Given the description of an element on the screen output the (x, y) to click on. 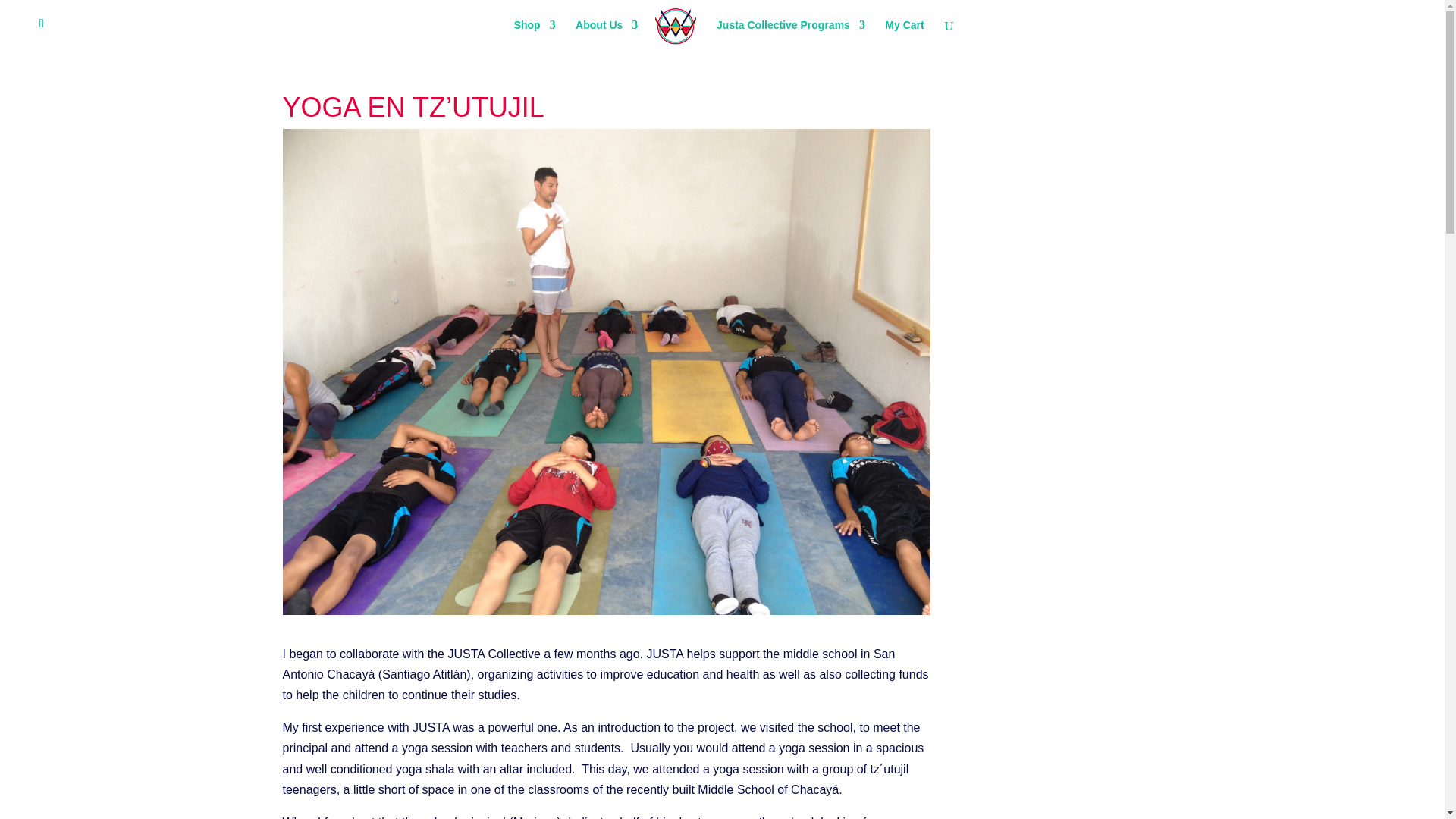
About Us (606, 34)
My Cart (904, 34)
Justa Collective Programs (790, 34)
Shop (534, 34)
